Given the description of an element on the screen output the (x, y) to click on. 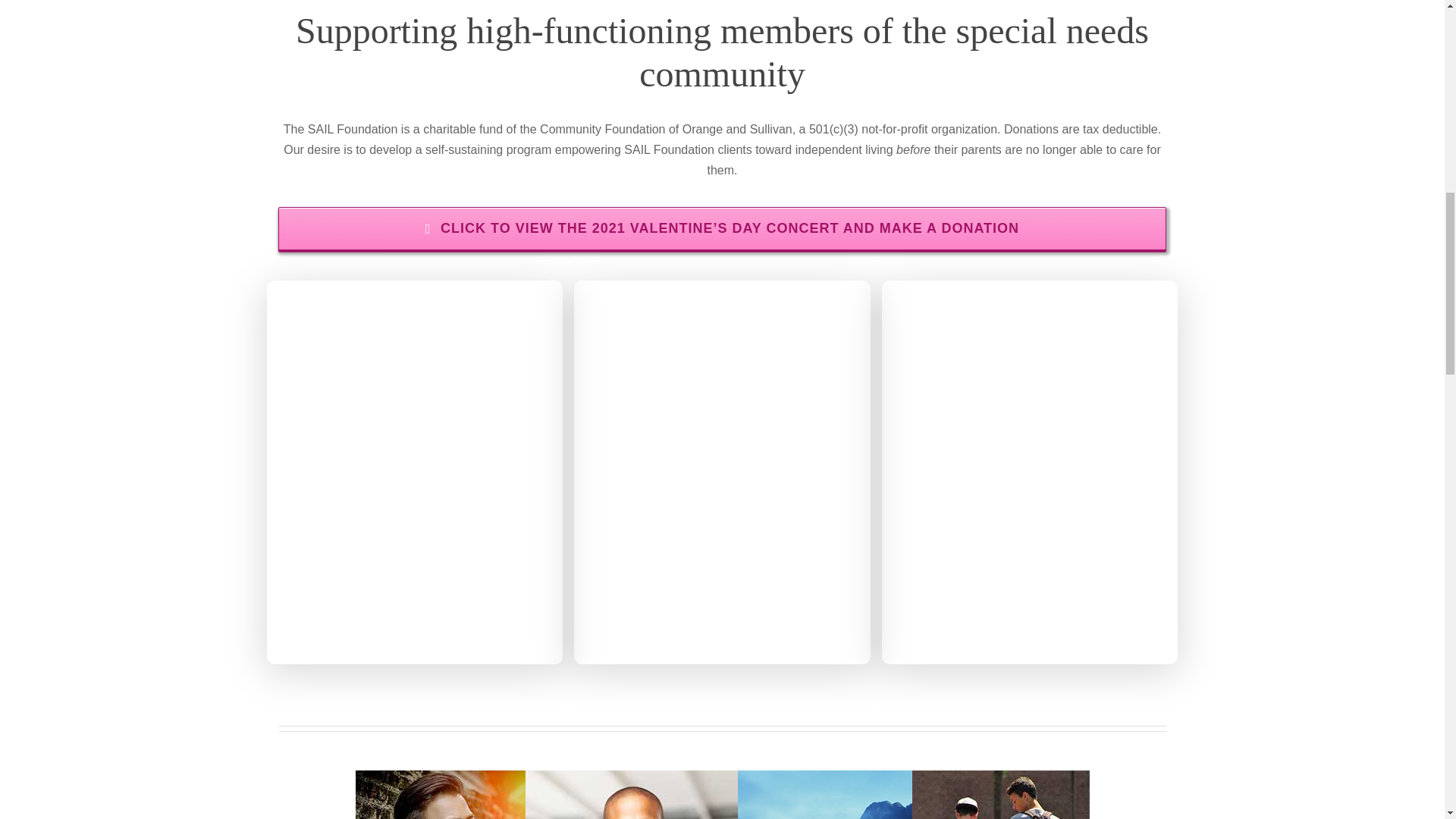
men (722, 794)
